Given the description of an element on the screen output the (x, y) to click on. 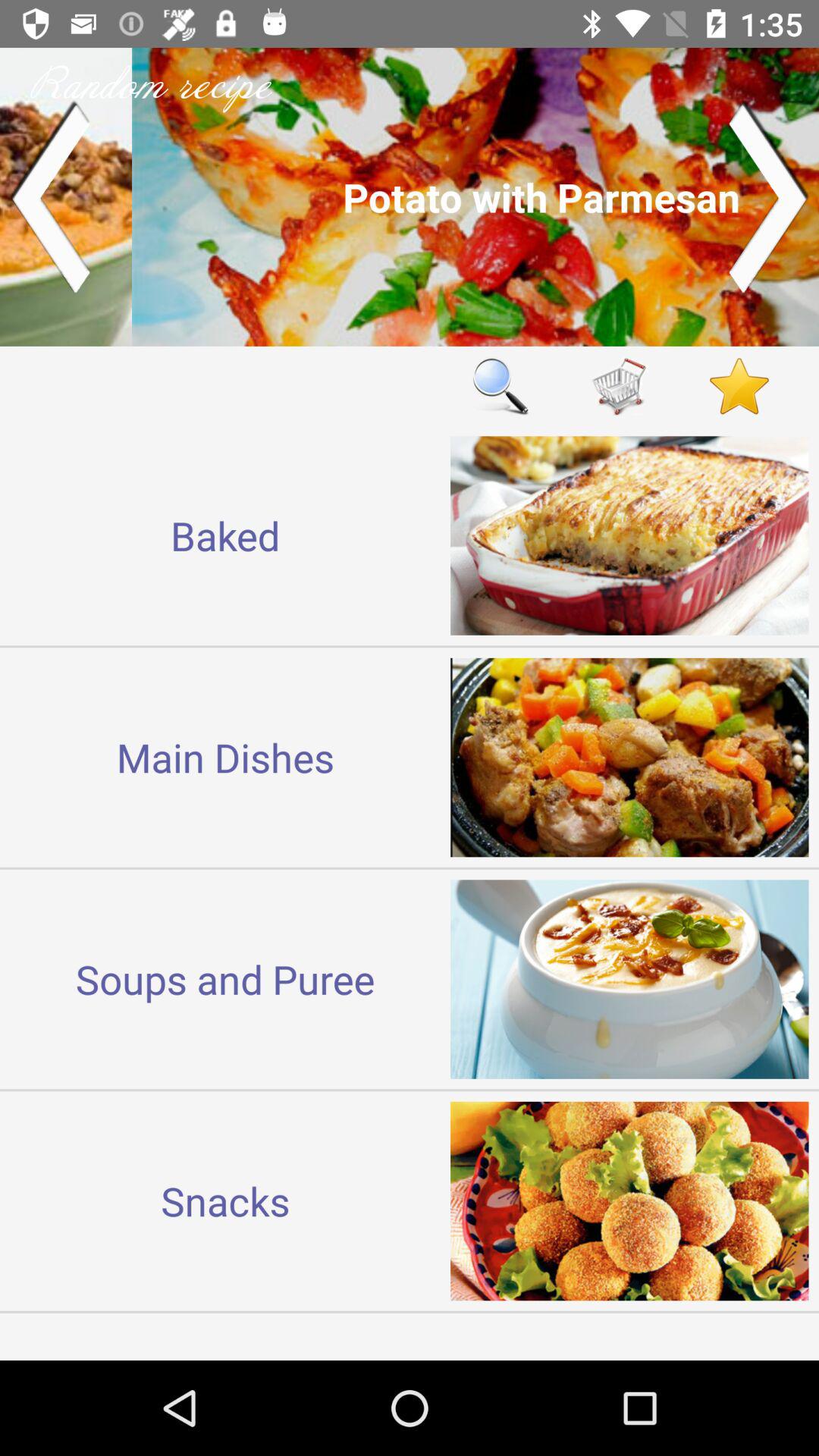
turn off icon above snacks (225, 978)
